Given the description of an element on the screen output the (x, y) to click on. 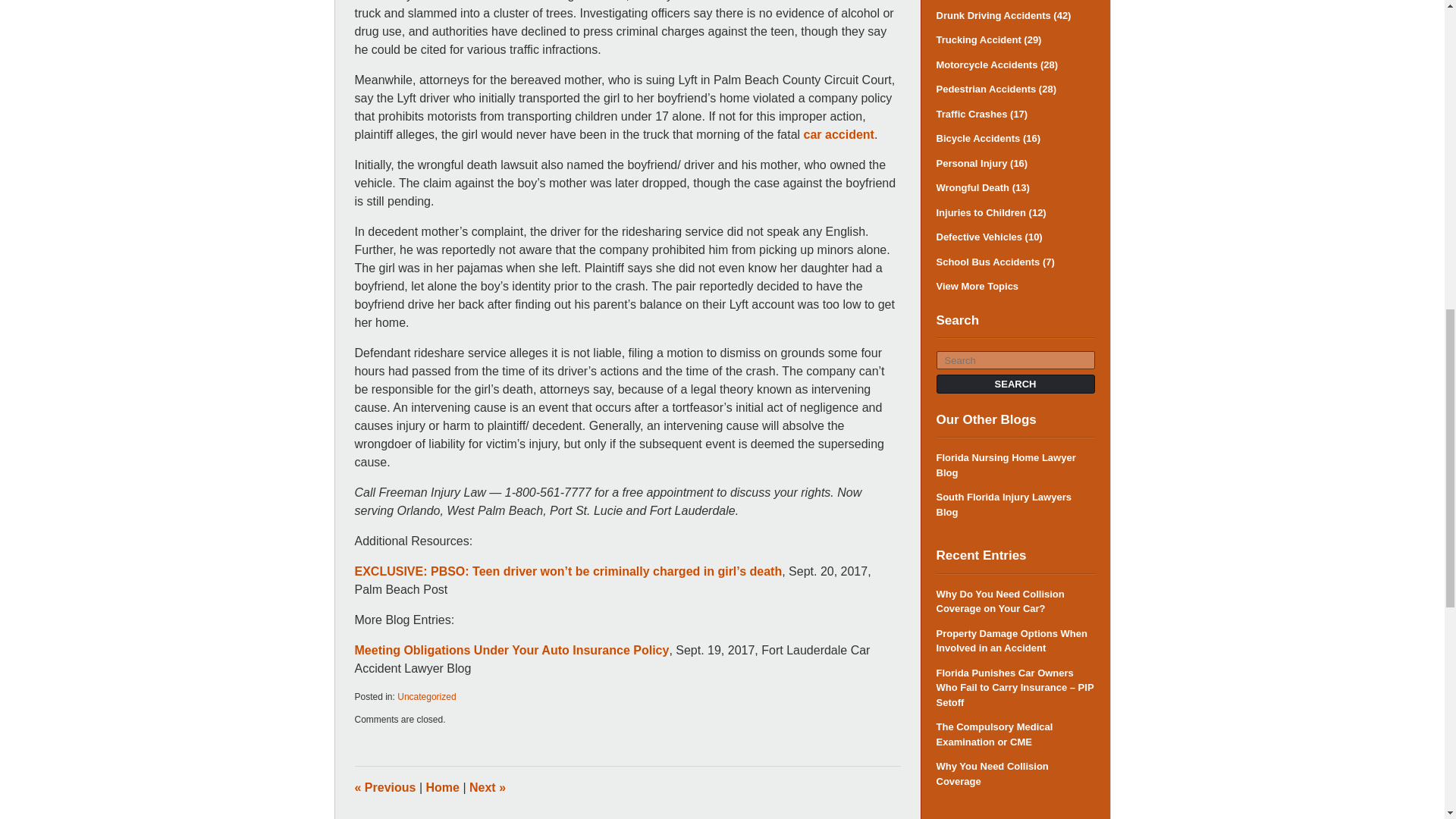
Uncategorized (426, 696)
car accident (839, 133)
Home (443, 787)
Meeting Obligations Under Your Auto Insurance Policy (512, 649)
View all posts in Uncategorized (426, 696)
Comparative Negligence in Florida Pedestrian Accidents (486, 787)
